Given the description of an element on the screen output the (x, y) to click on. 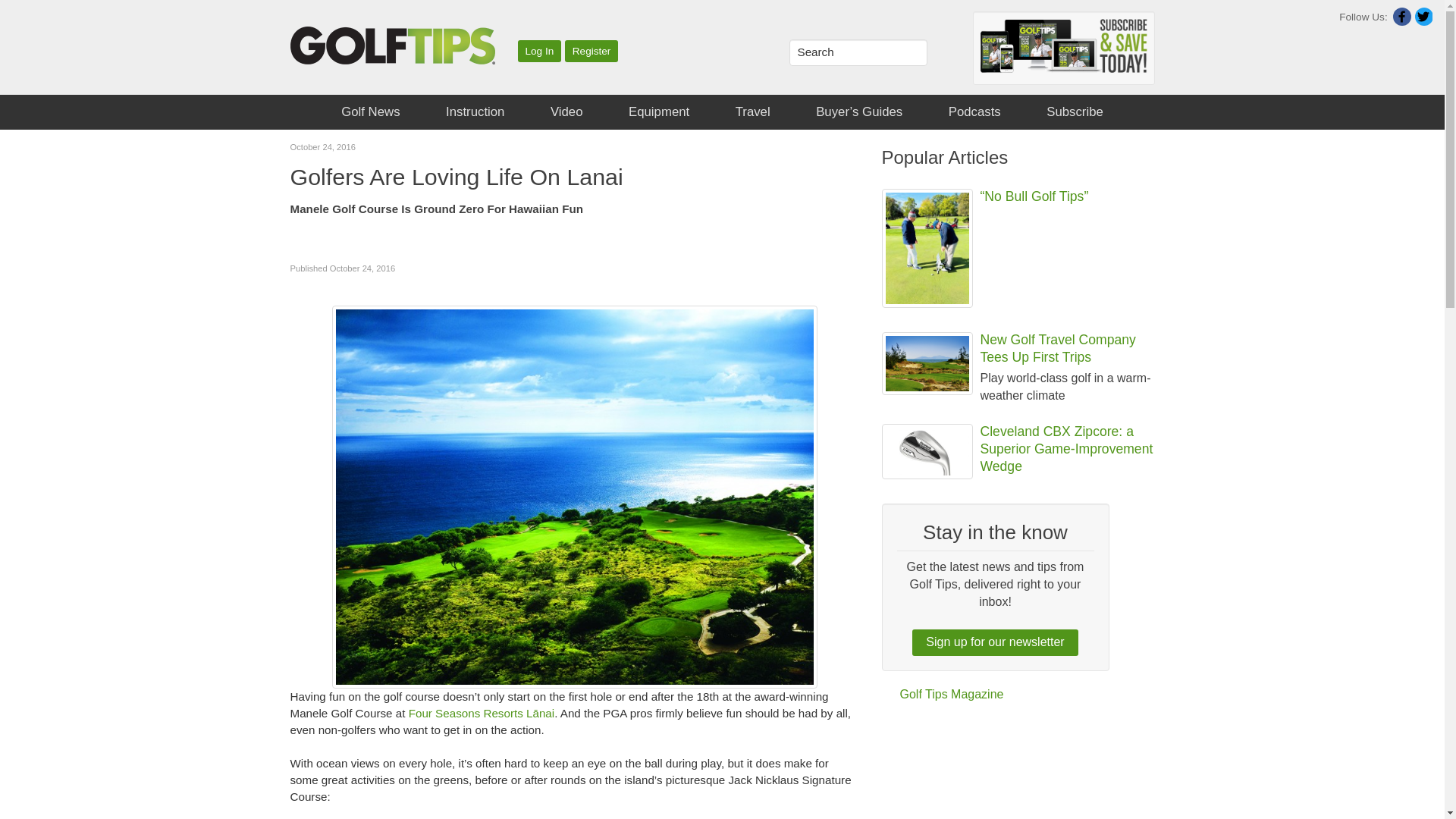
Instruction (475, 112)
Golf News (370, 112)
Search for: (857, 52)
Log In (538, 51)
Facebook (1401, 16)
Register (591, 51)
Video (566, 112)
Equipment (658, 112)
Twitter (1422, 16)
